Given the description of an element on the screen output the (x, y) to click on. 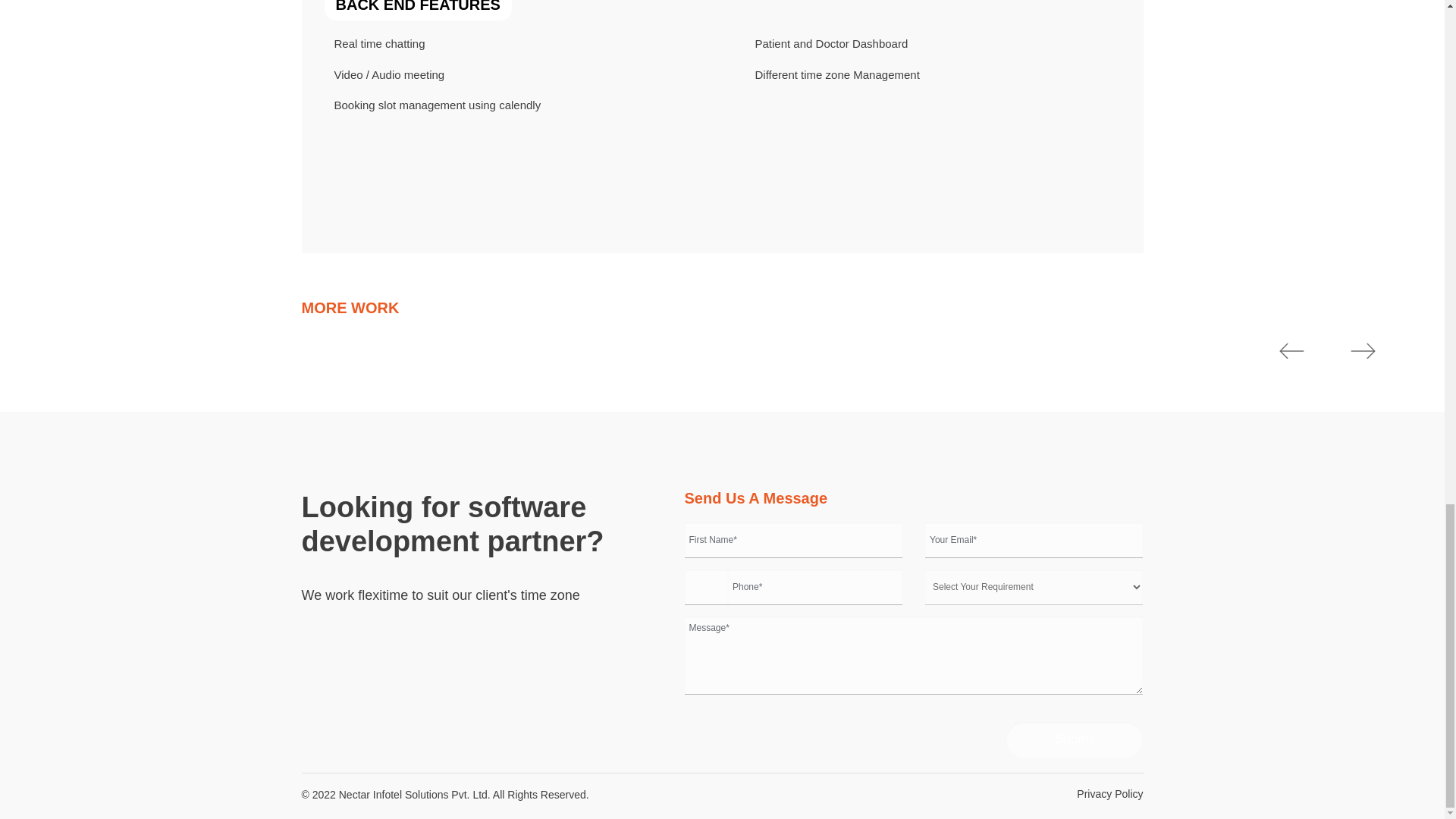
Submit (1074, 739)
Privacy Policy (1109, 794)
Submit (1074, 739)
